Given the description of an element on the screen output the (x, y) to click on. 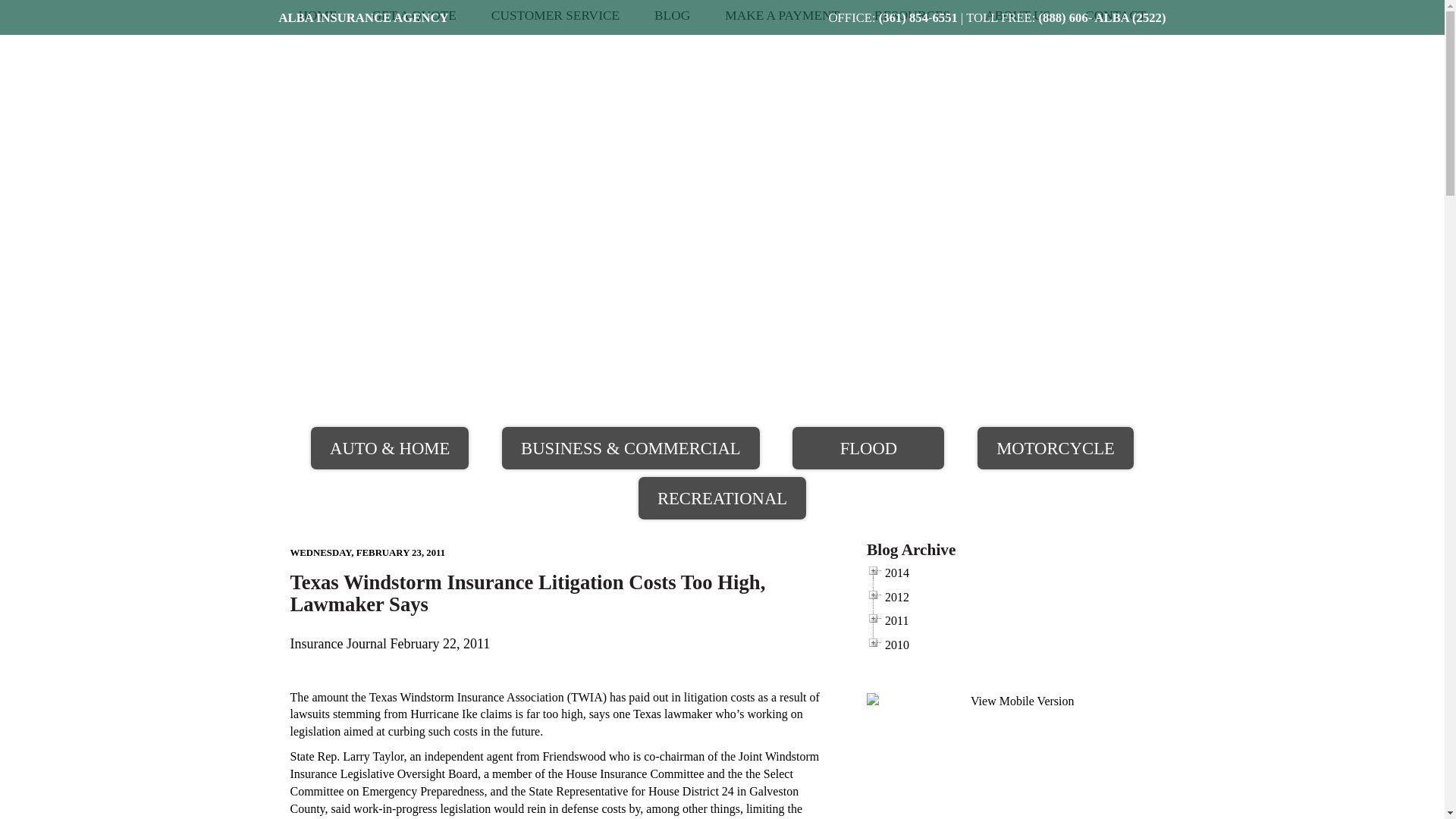
GET A QUOTE (413, 15)
ALBA INSURANCE AGENCY (363, 17)
HOME (317, 15)
